Given the description of an element on the screen output the (x, y) to click on. 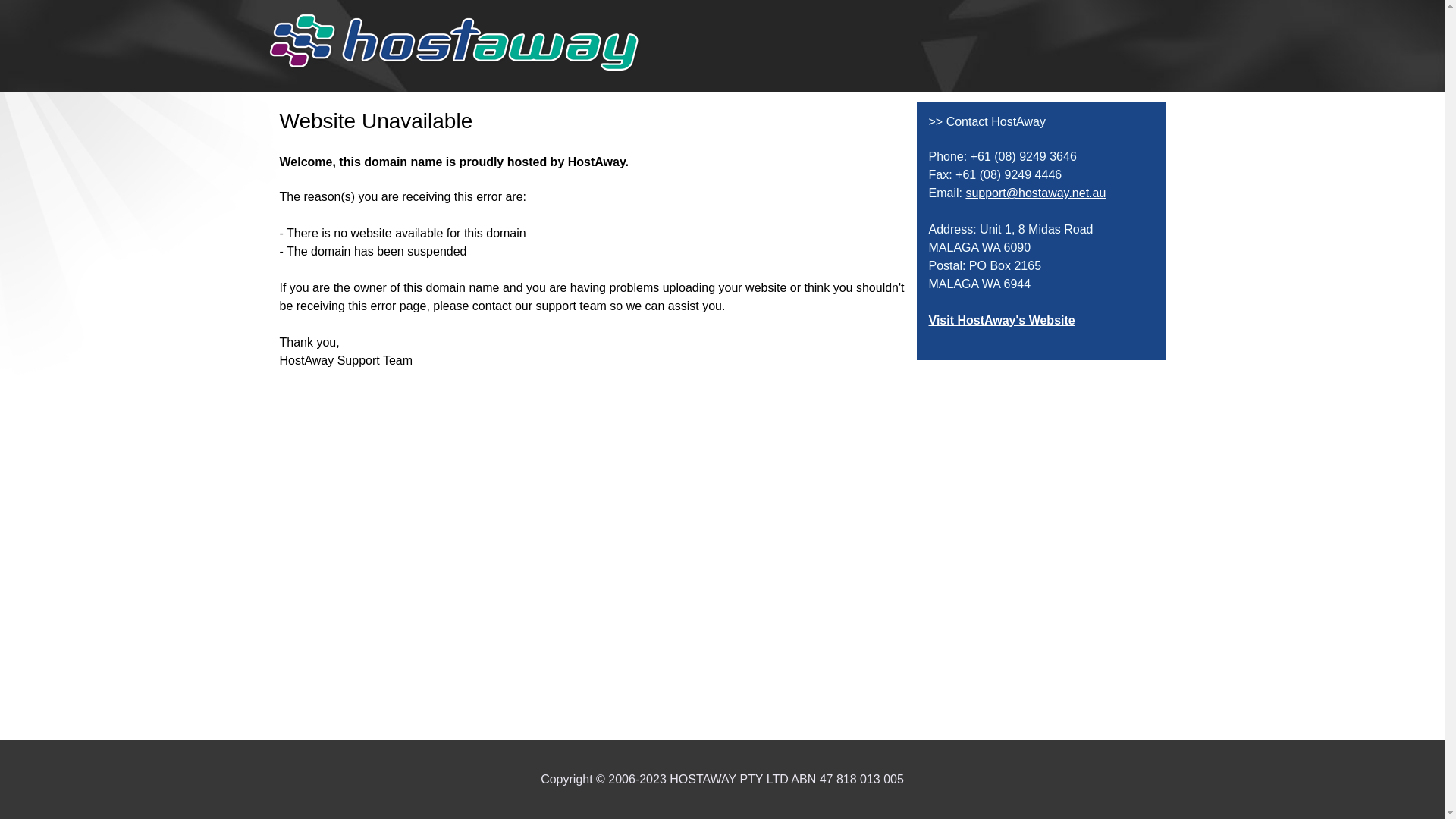
support@hostaway.net.au Element type: text (1035, 192)
Visit HostAway's Website Element type: text (1001, 319)
